Given the description of an element on the screen output the (x, y) to click on. 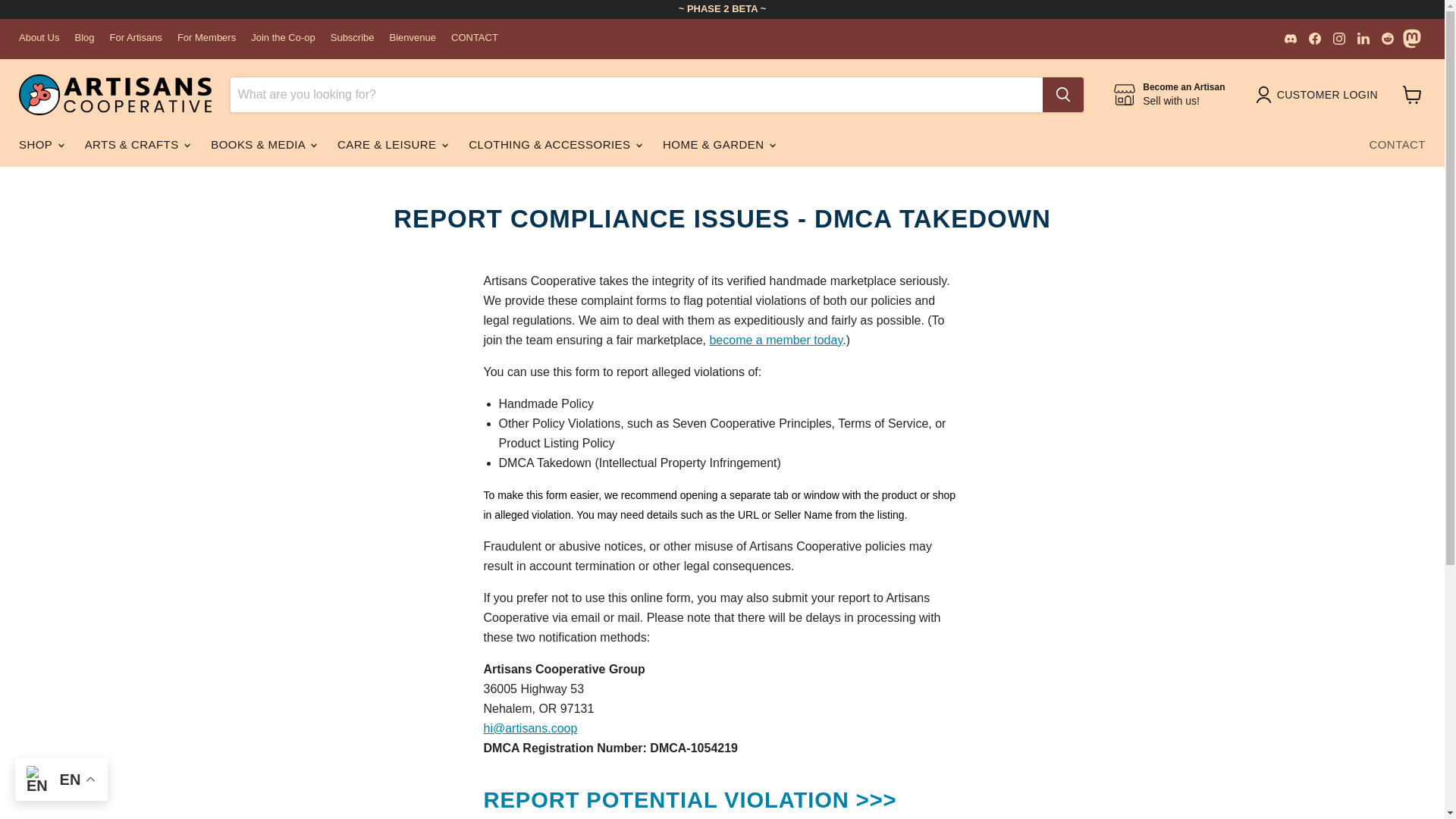
For Artisans (135, 38)
LinkedIn (1363, 38)
Find us on Discord (1290, 38)
Find us on Instagram (1338, 38)
CONTACT (474, 38)
For Members (1168, 94)
Find us on Facebook (206, 38)
Instagram (1314, 38)
Find us on Reddit (1338, 38)
